Given the description of an element on the screen output the (x, y) to click on. 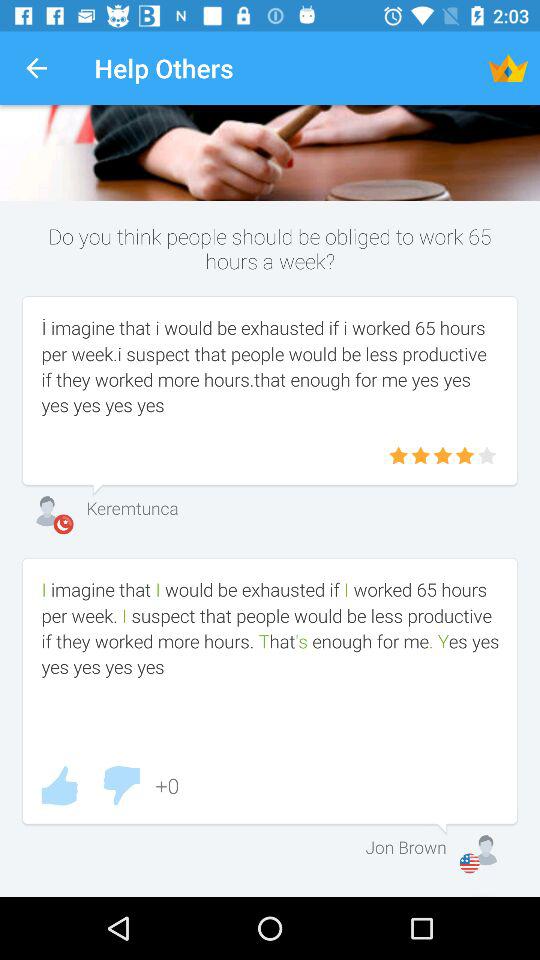
like button (59, 785)
